Given the description of an element on the screen output the (x, y) to click on. 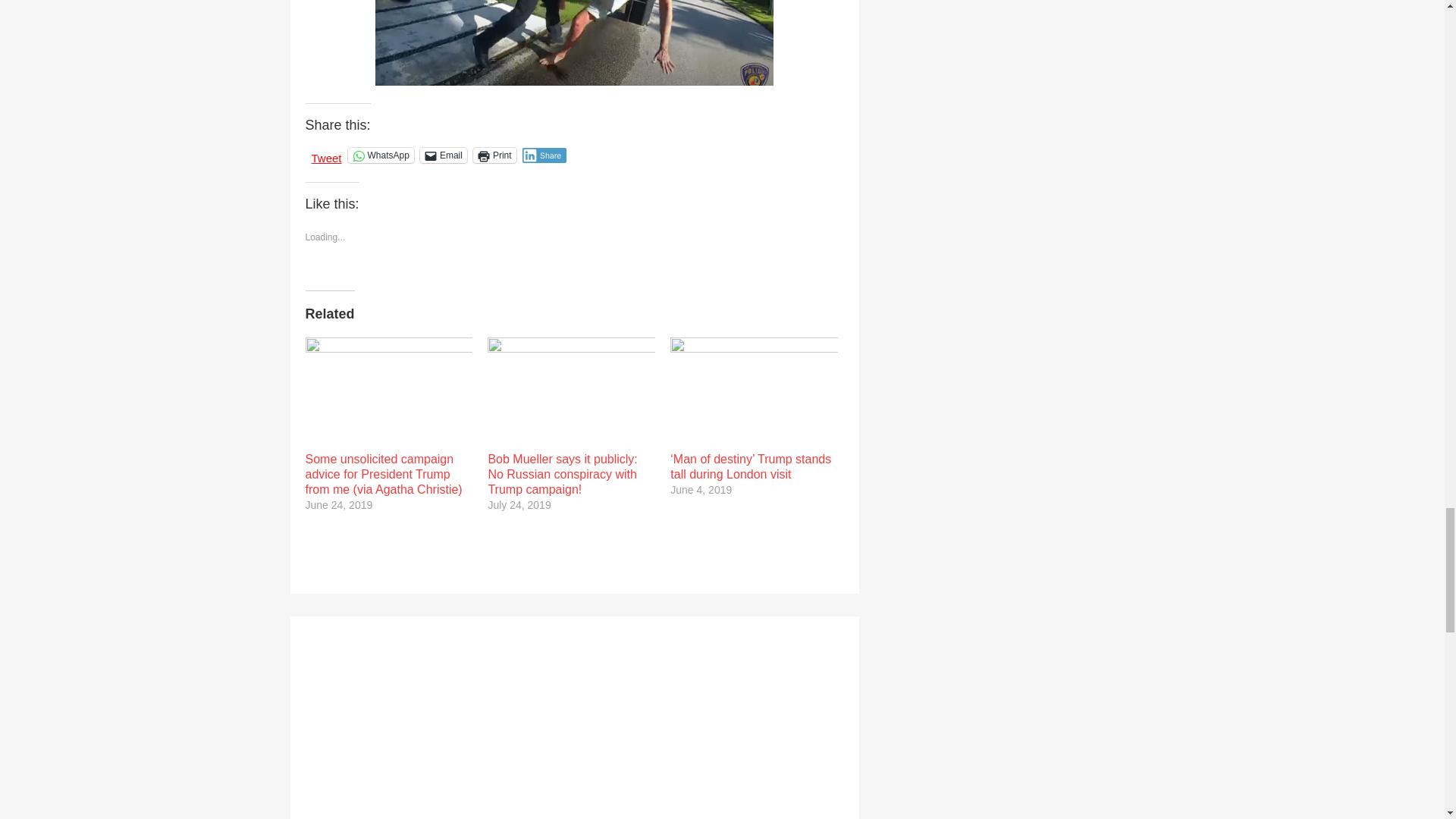
Click to print (494, 155)
Click to share on WhatsApp (380, 155)
Click to email a link to a friend (443, 155)
